Given the description of an element on the screen output the (x, y) to click on. 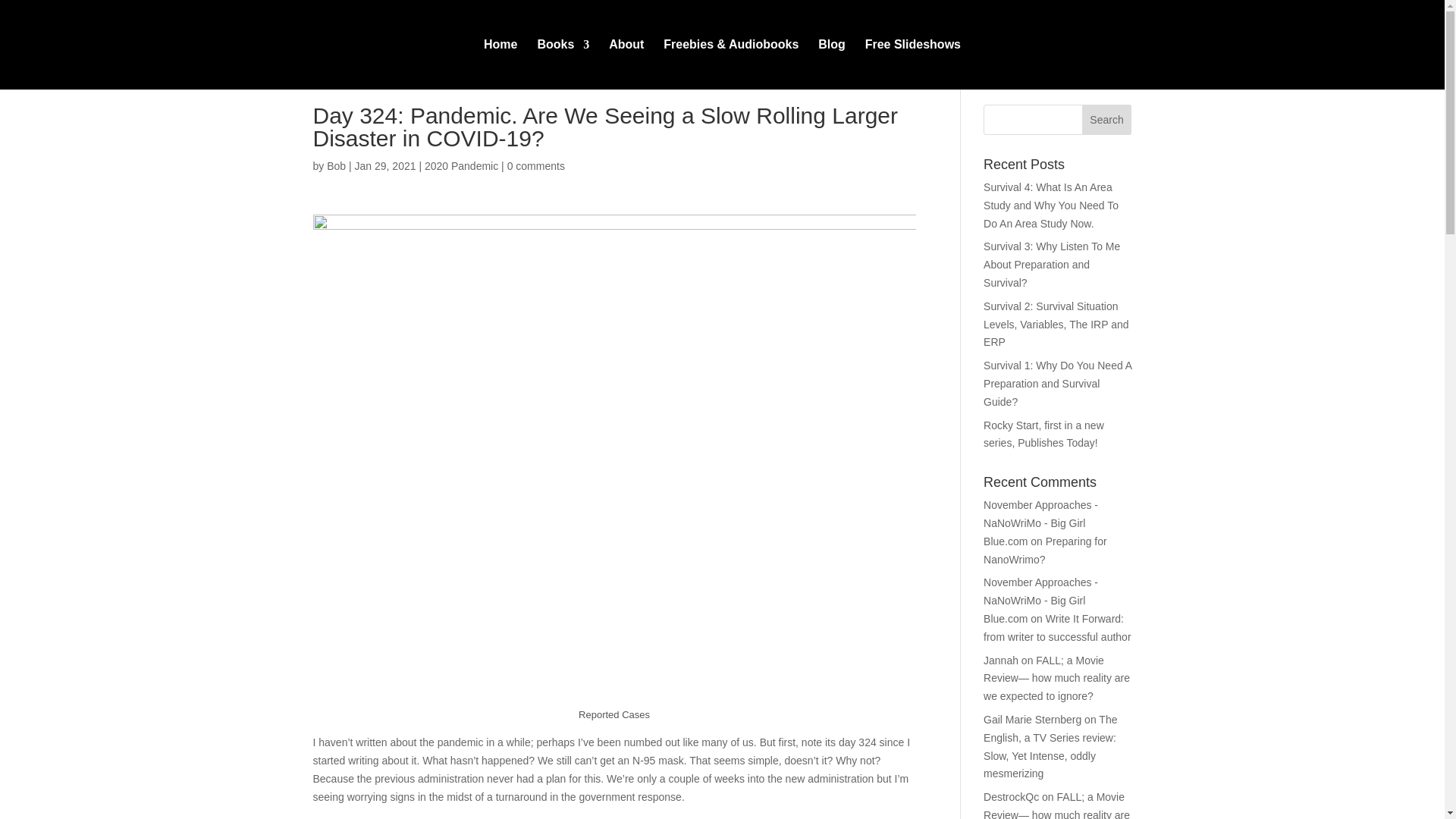
Gail Marie Sternberg (1032, 719)
Preparing for NanoWrimo? (1045, 550)
Books (563, 64)
Survival 3: Why Listen To Me About Preparation and Survival? (1051, 264)
2020 Pandemic (461, 165)
Search (1106, 119)
Free Slideshows (912, 64)
Write It Forward: from writer to successful author (1057, 627)
